Given the description of an element on the screen output the (x, y) to click on. 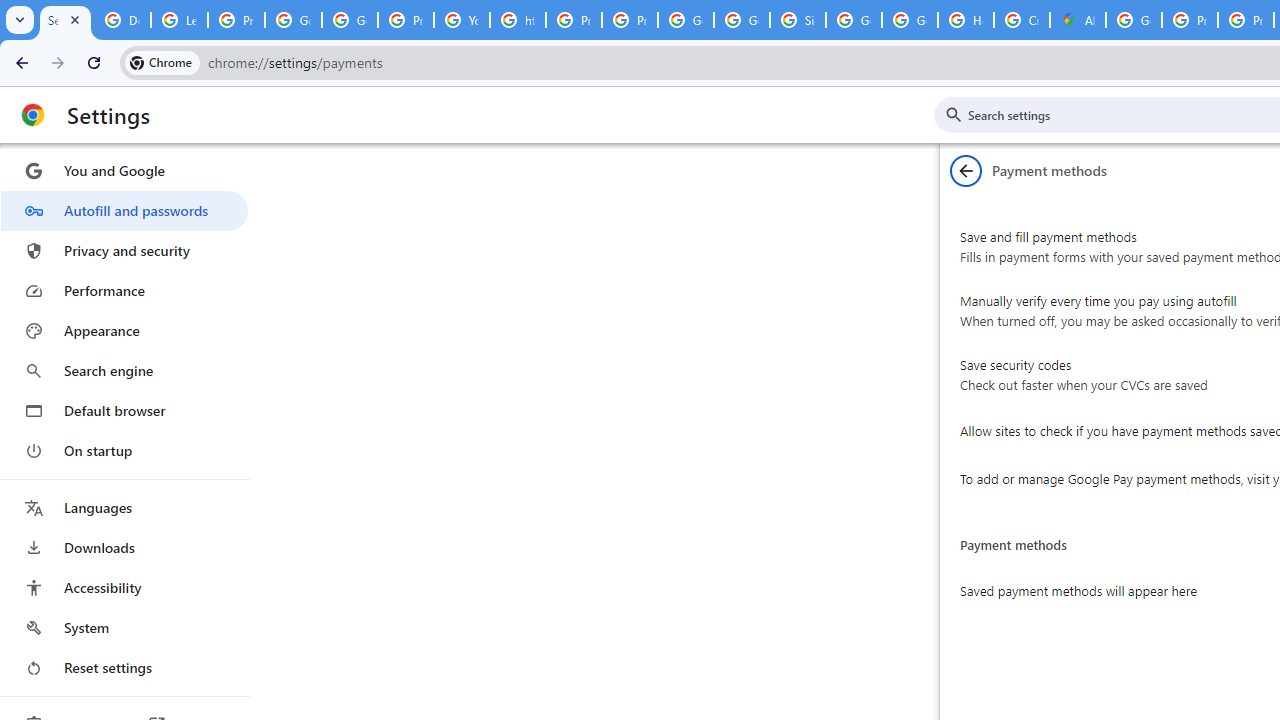
You and Google (124, 170)
Appearance (124, 331)
Delete photos & videos - Computer - Google Photos Help (122, 20)
Privacy Help Center - Policies Help (1190, 20)
